Given the description of an element on the screen output the (x, y) to click on. 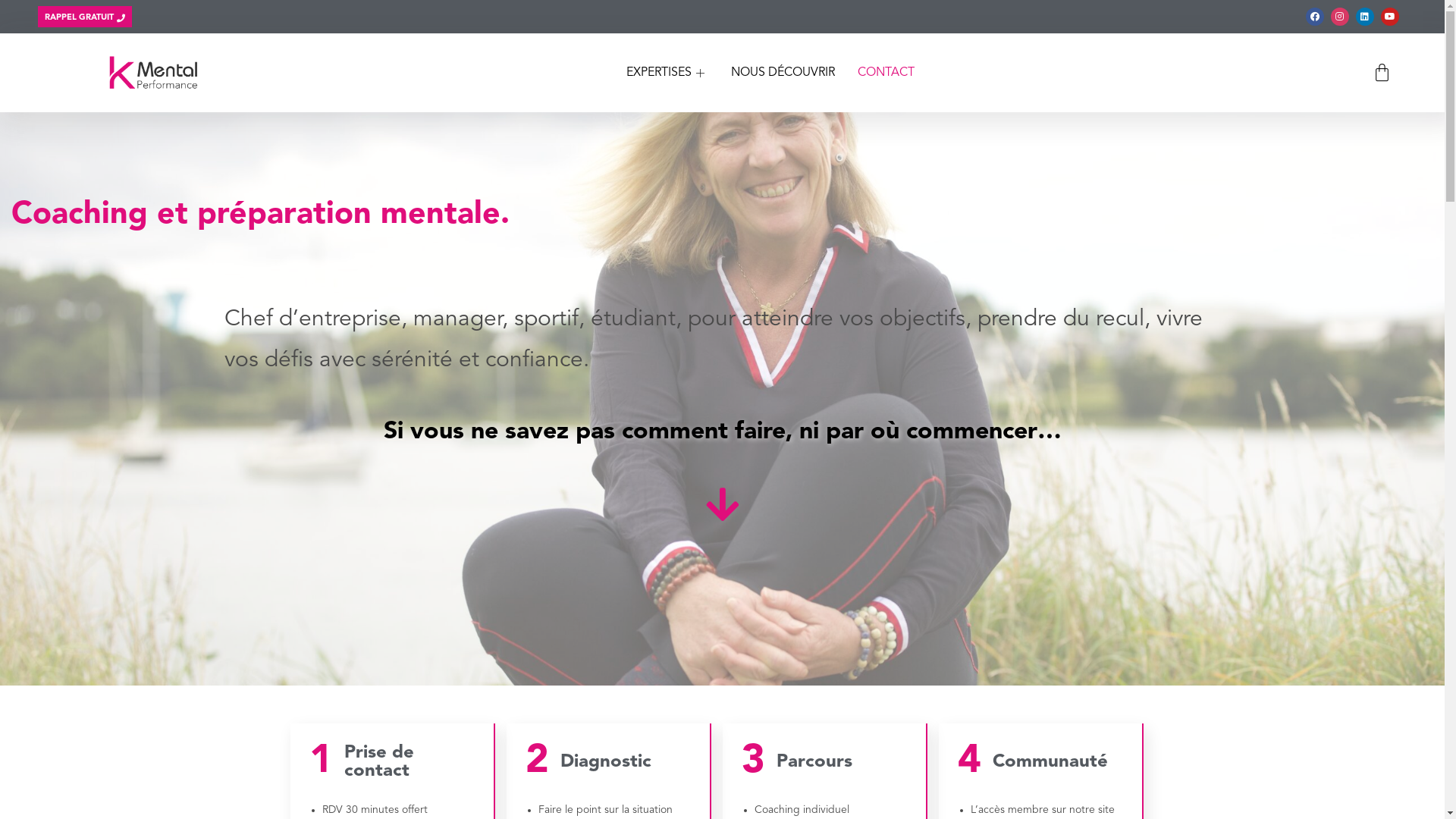
RAPPEL GRATUIT Element type: text (84, 16)
EXPERTISES Element type: text (667, 72)
CONTACT Element type: text (885, 72)
